Given the description of an element on the screen output the (x, y) to click on. 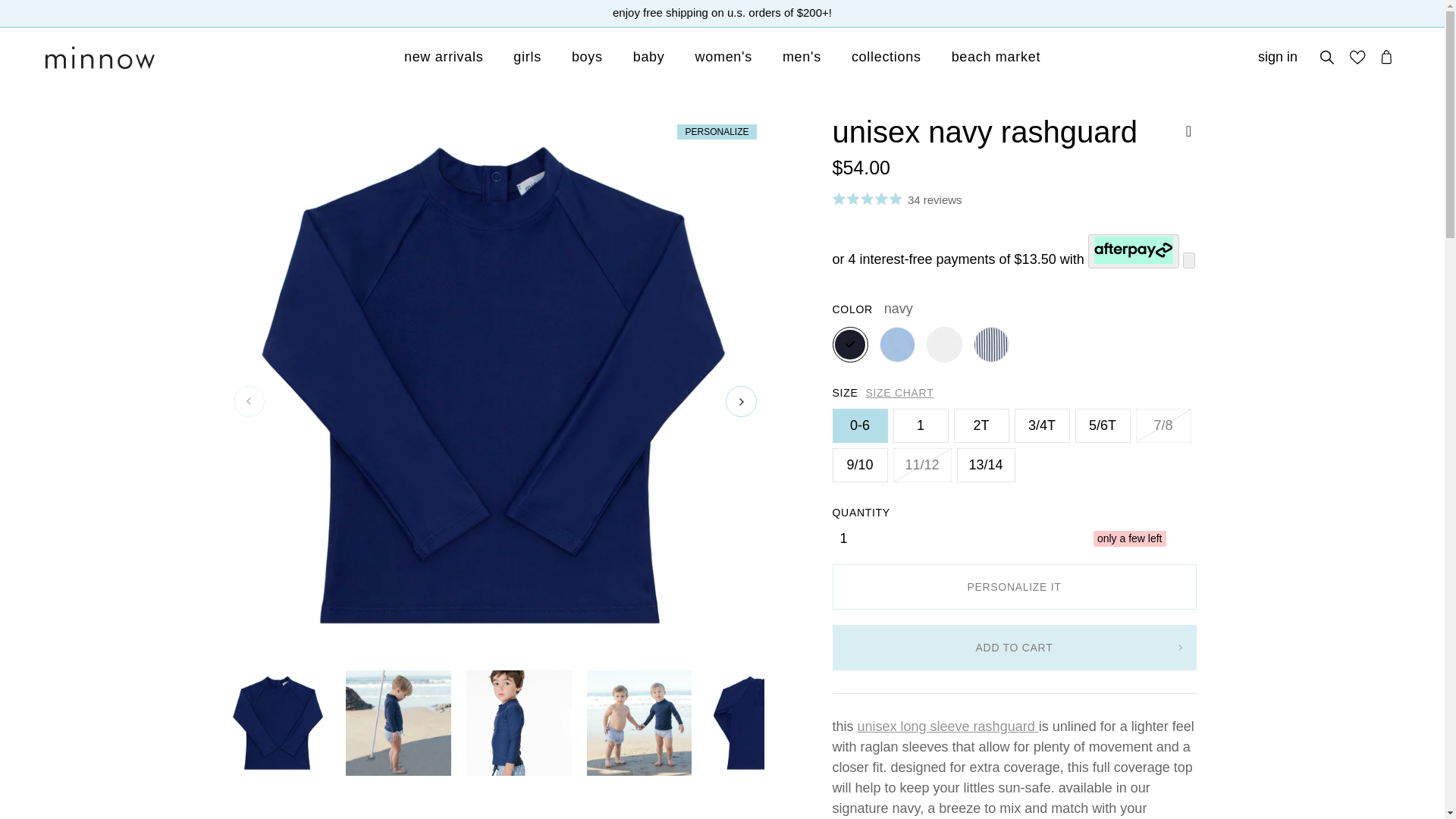
color swatch navy-stripe (991, 344)
color swatch white (944, 344)
color swatch navy (849, 344)
color swatch peri-blue (897, 344)
